Given the description of an element on the screen output the (x, y) to click on. 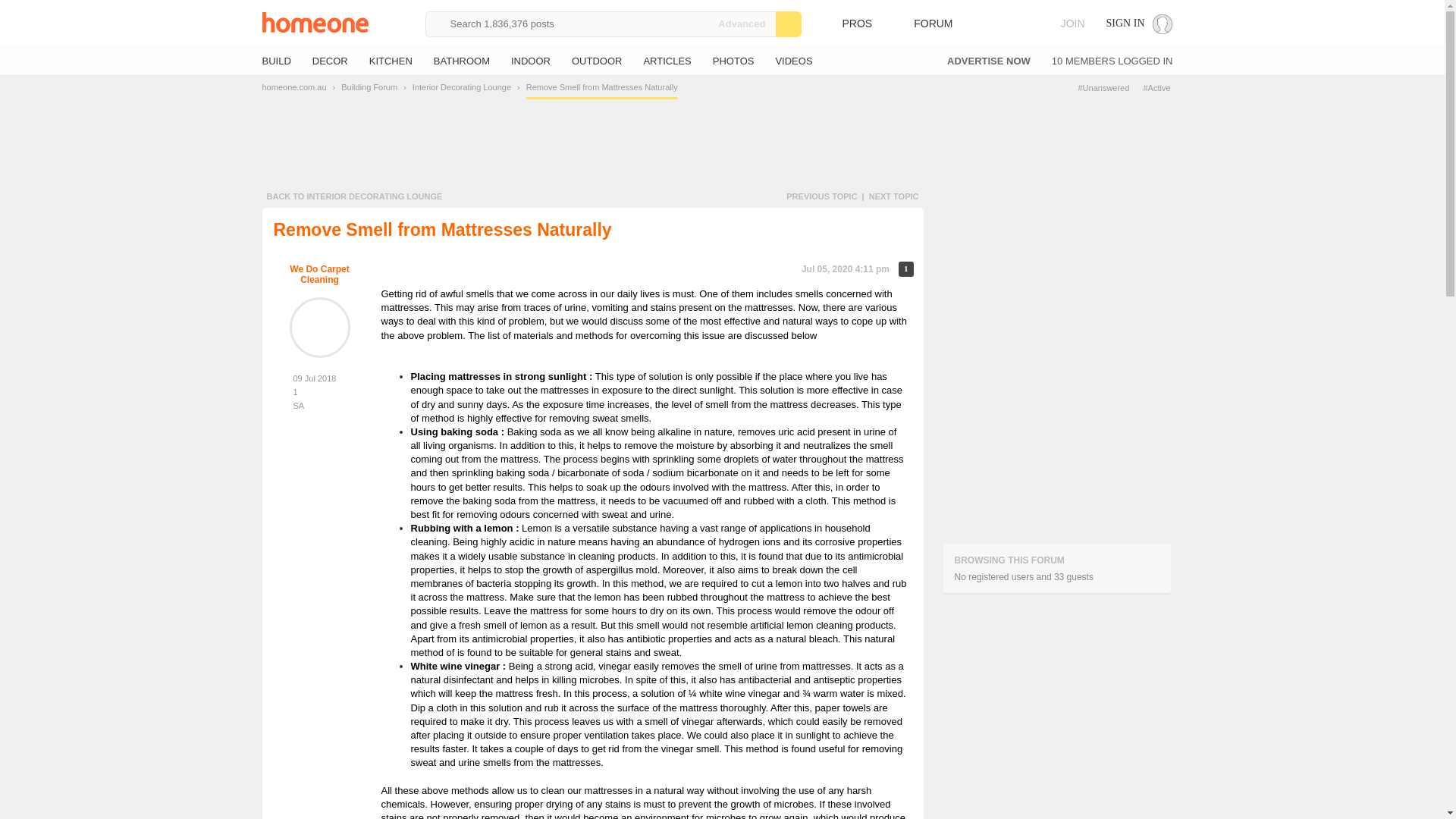
KITCHEN (390, 60)
INDOOR (530, 60)
NEXT TOPIC (893, 195)
Posts (319, 392)
Advanced (741, 23)
Interior Decorating Lounge (461, 86)
1 of 1 post (906, 268)
DECOR (330, 60)
VIDEOS (793, 60)
homeone.com.au (294, 86)
BATHROOM (461, 60)
BUILD (276, 60)
ADVERTISE NOW (988, 60)
PHOTOS (733, 60)
BACK TO INTERIOR DECORATING LOUNGE (354, 195)
